Given the description of an element on the screen output the (x, y) to click on. 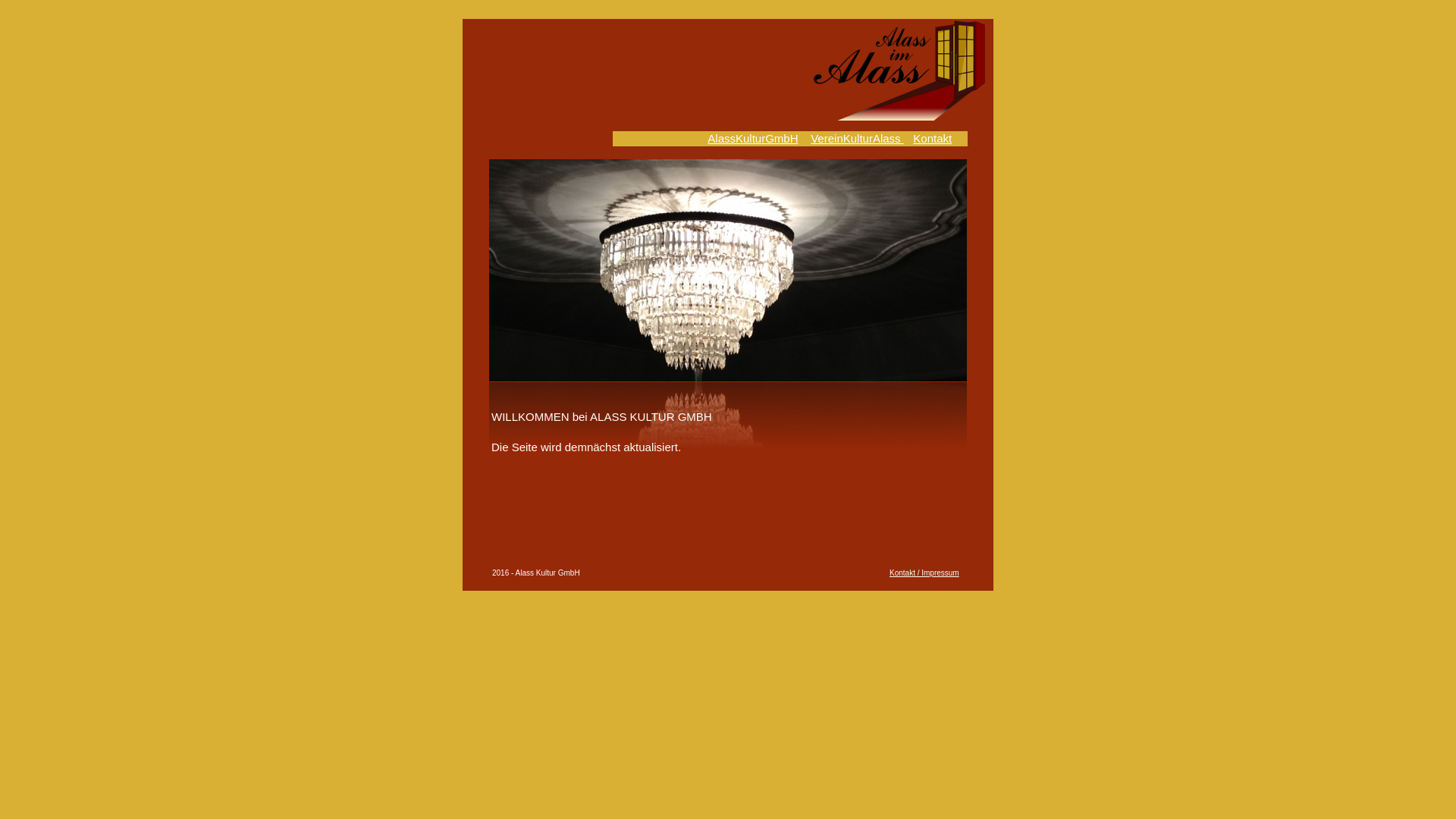
VereinKulturAlass Element type: text (856, 137)
Kontakt Element type: text (932, 137)
AlassKulturGmbH Element type: text (752, 137)
Kontakt / Impressum Element type: text (924, 572)
